Given the description of an element on the screen output the (x, y) to click on. 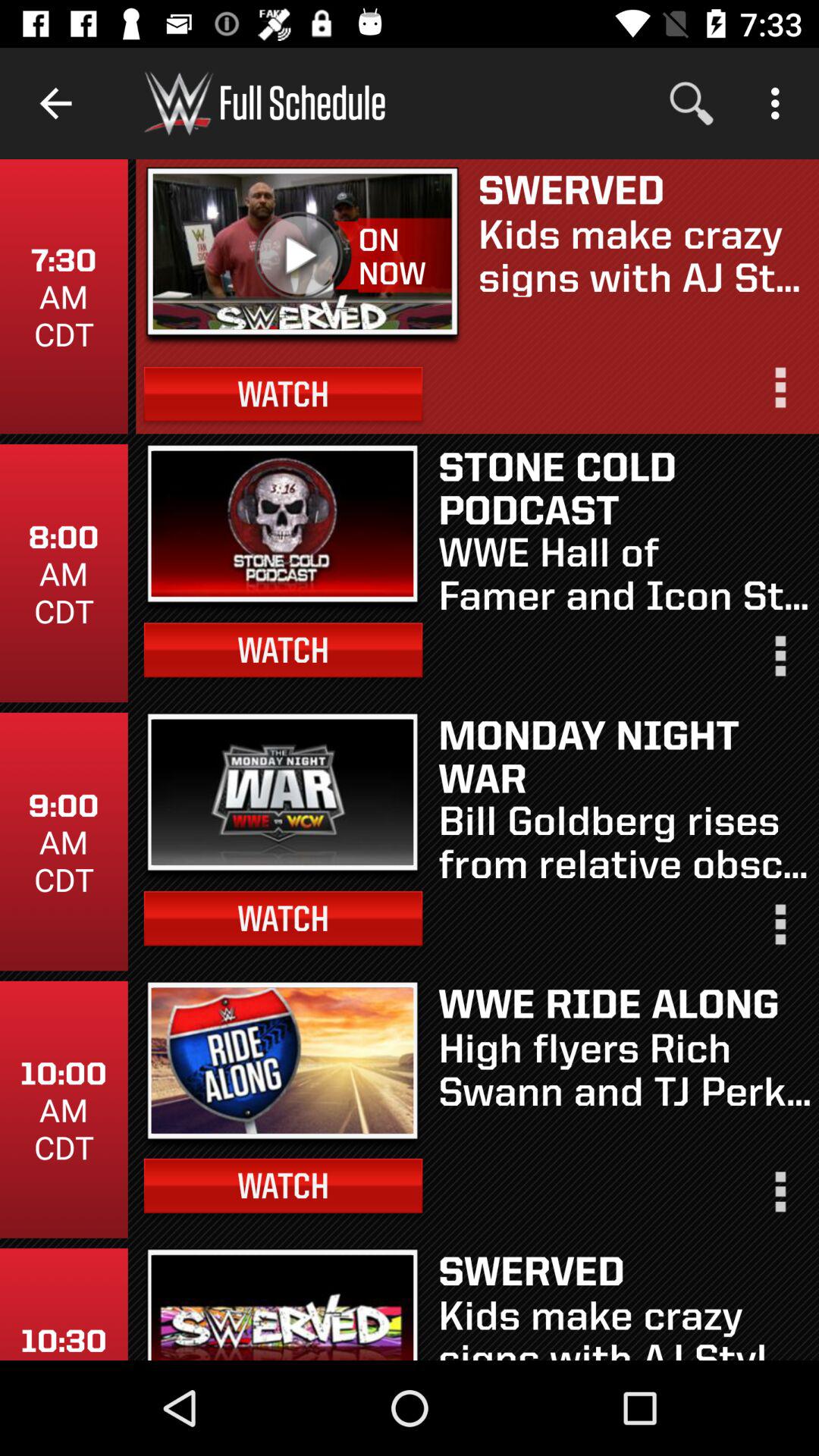
click the item to the left of on now (302, 256)
